Given the description of an element on the screen output the (x, y) to click on. 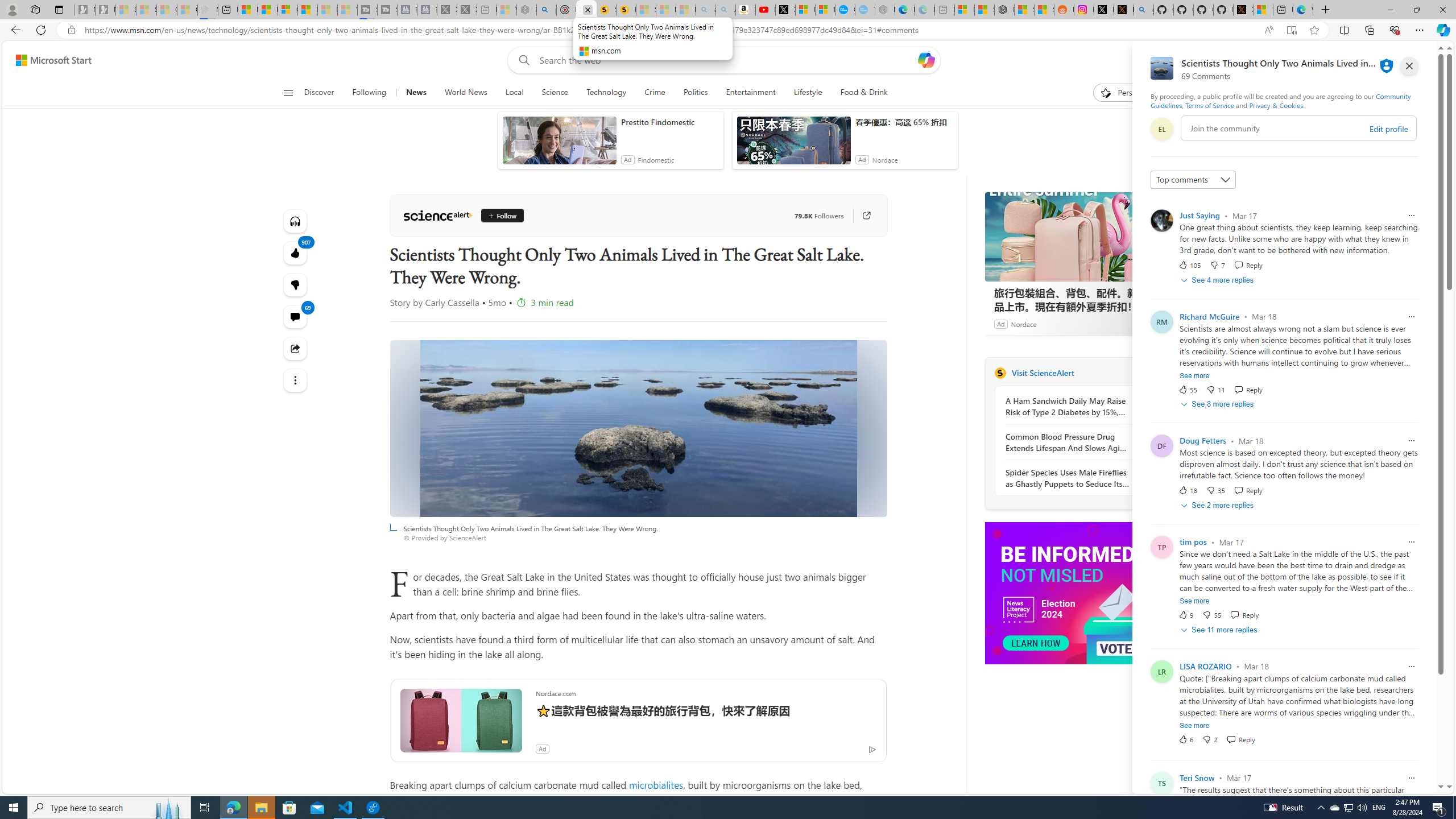
Follow (502, 215)
18 Like (1187, 490)
X (785, 9)
Richard McGuire (1209, 316)
Enter your search term (726, 59)
Crime (654, 92)
Microsoft rewards (1374, 60)
Technology (606, 92)
Share this story (295, 348)
LISA ROZARIO (1205, 666)
Opinion: Op-Ed and Commentary - USA TODAY (844, 9)
